Given the description of an element on the screen output the (x, y) to click on. 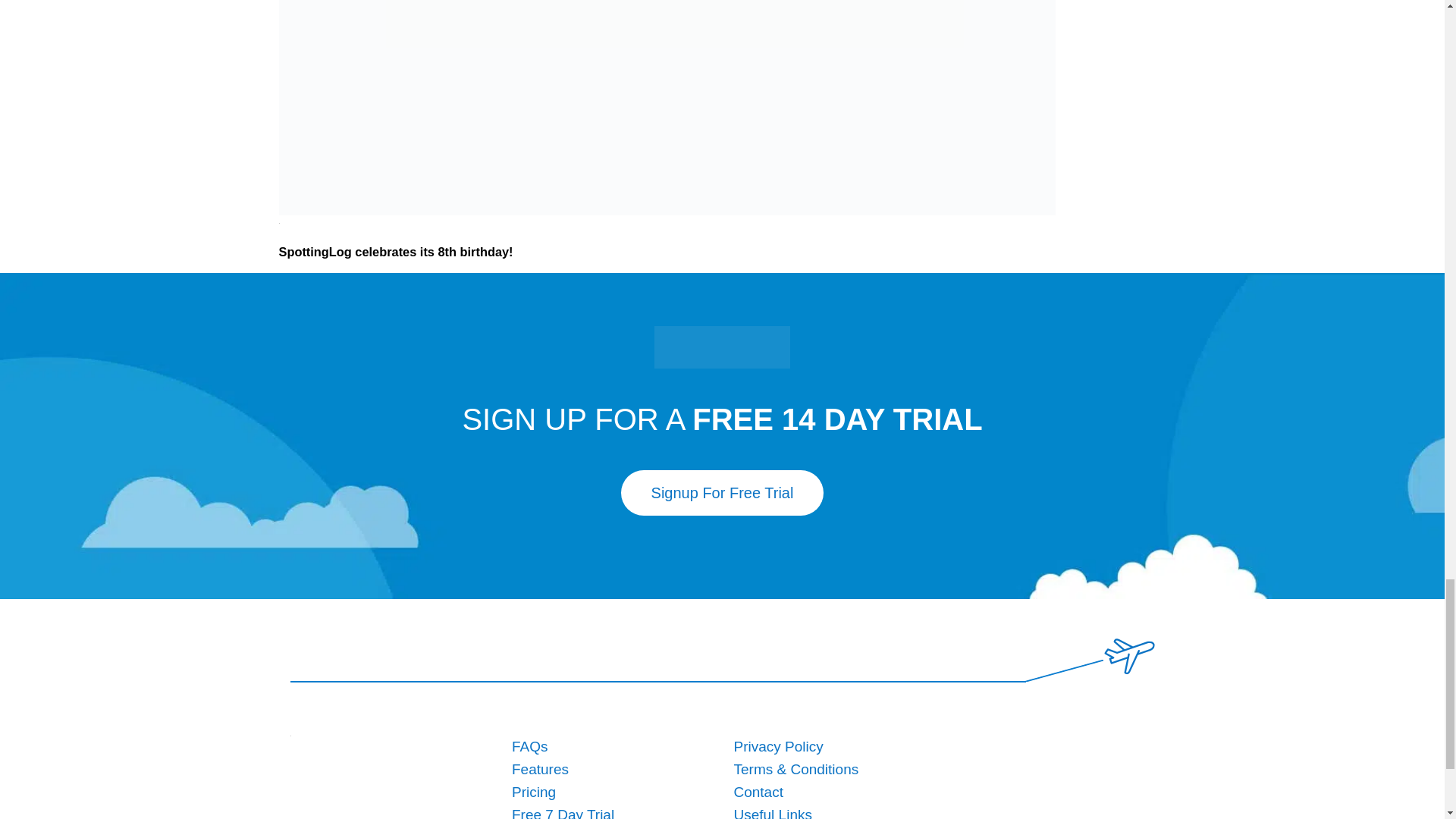
SpottingLog celebrates its 8th birthday! (396, 250)
Useful Links (772, 812)
Contact (758, 791)
Features (540, 769)
Privacy Policy (777, 746)
Signup For Free Trial (722, 492)
Pricing (534, 791)
FAQs (530, 746)
Free 7 Day Trial (563, 812)
